Given the description of an element on the screen output the (x, y) to click on. 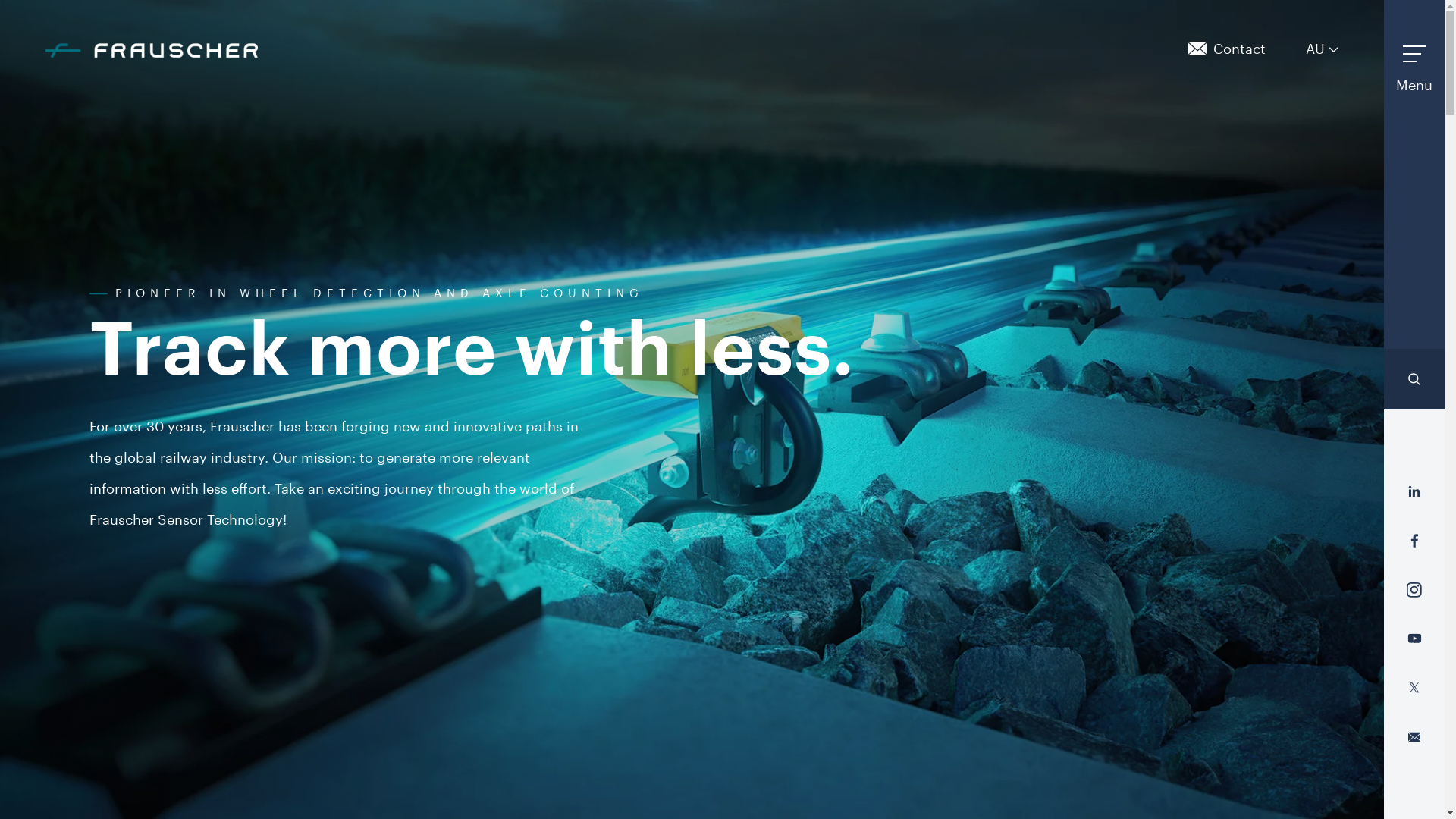
Wheel Sensors Element type: text (0, 0)
Mail Element type: hover (1413, 736)
more Element type: hover (1333, 50)
AU Element type: text (1321, 48)
Frauscher Logo Element type: hover (151, 50)
Facebook Element type: hover (1413, 540)
Youtube Element type: hover (1413, 638)
Contact Element type: text (1239, 48)
mail Element type: hover (1197, 48)
Combined Shape Created with Sketch. Element type: text (1413, 378)
Linkedin Element type: hover (1413, 491)
Instagram Element type: hover (1413, 589)
Twitter Element type: hover (1413, 687)
